Given the description of an element on the screen output the (x, y) to click on. 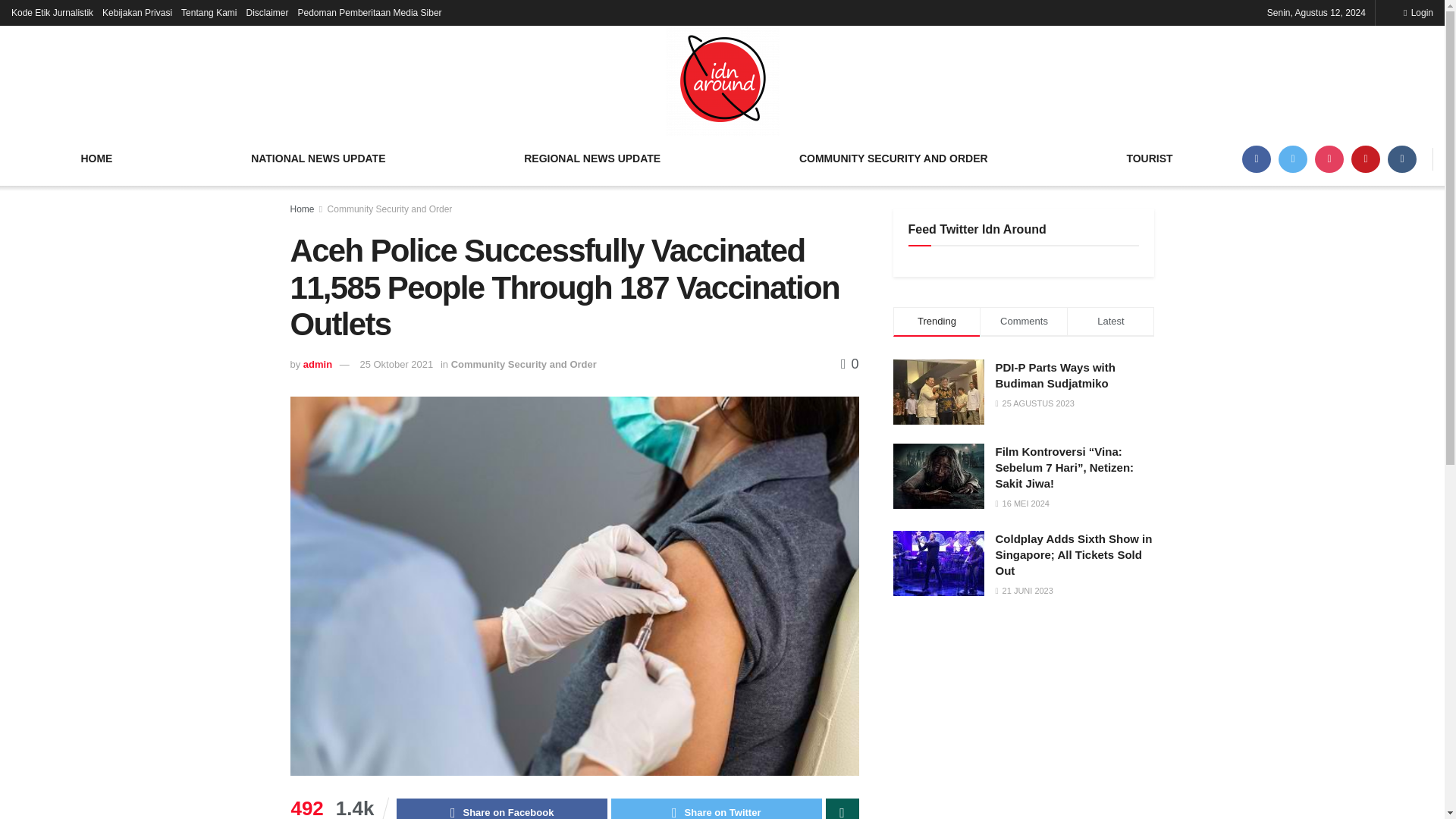
Pedoman Pemberitaan Media Siber (369, 12)
admin (316, 364)
PDI-P Parts Ways with Budiman Sudjatmiko  (1054, 375)
REGIONAL NEWS UPDATE (592, 158)
Kode Etik Jurnalistik (52, 12)
COMMUNITY SECURITY AND ORDER (893, 158)
Community Security and Order (523, 364)
Share on Twitter (716, 808)
HOME (96, 158)
Kebijakan Privasi (136, 12)
